Given the description of an element on the screen output the (x, y) to click on. 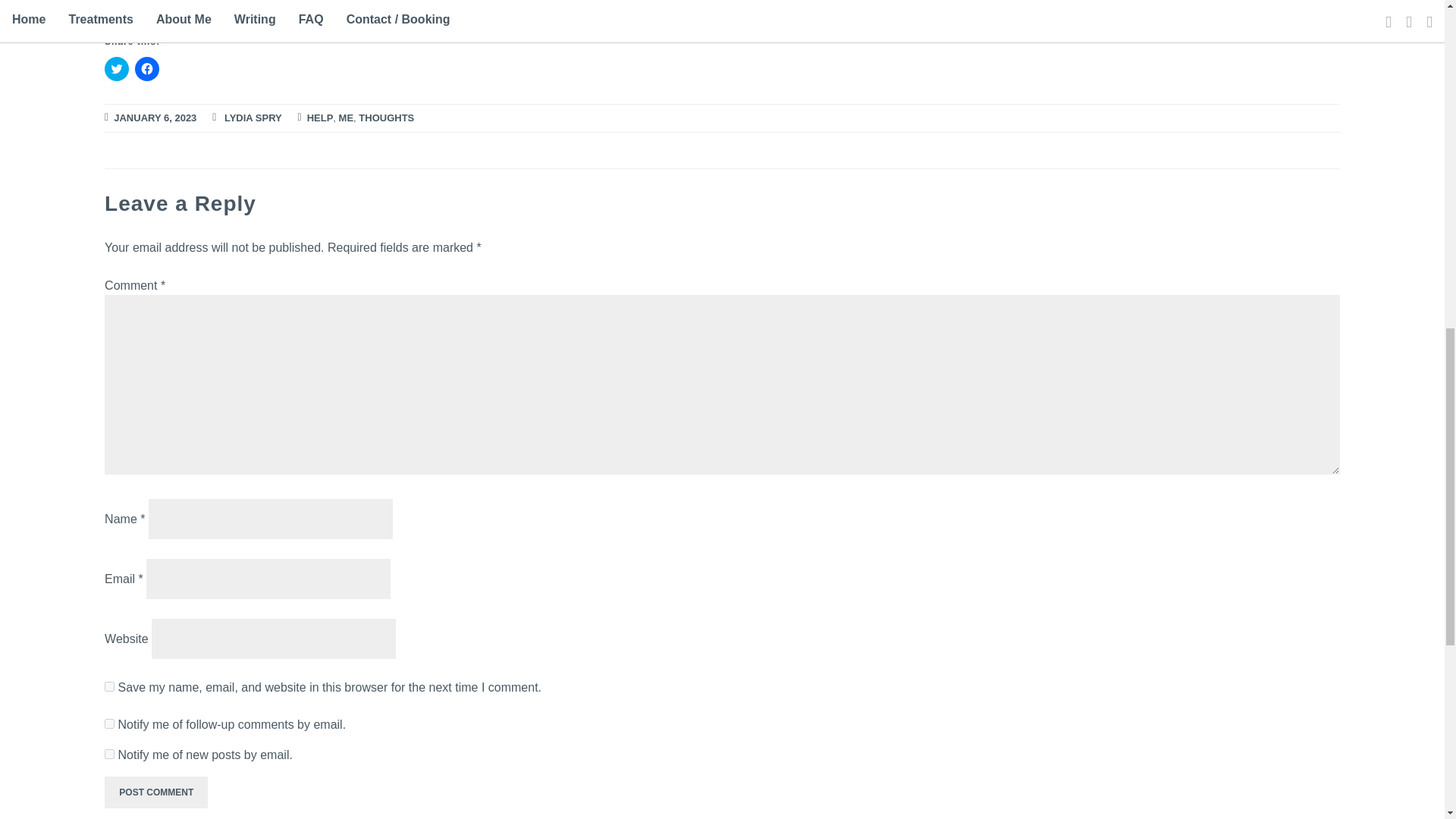
subscribe (109, 754)
yes (109, 686)
LYDIA SPRY (253, 117)
JANUARY 6, 2023 (154, 117)
HELP (320, 117)
Click to share on Twitter (116, 68)
THOUGHTS (385, 117)
Click to share on Facebook (146, 68)
Post Comment (156, 792)
ME (346, 117)
